Given the description of an element on the screen output the (x, y) to click on. 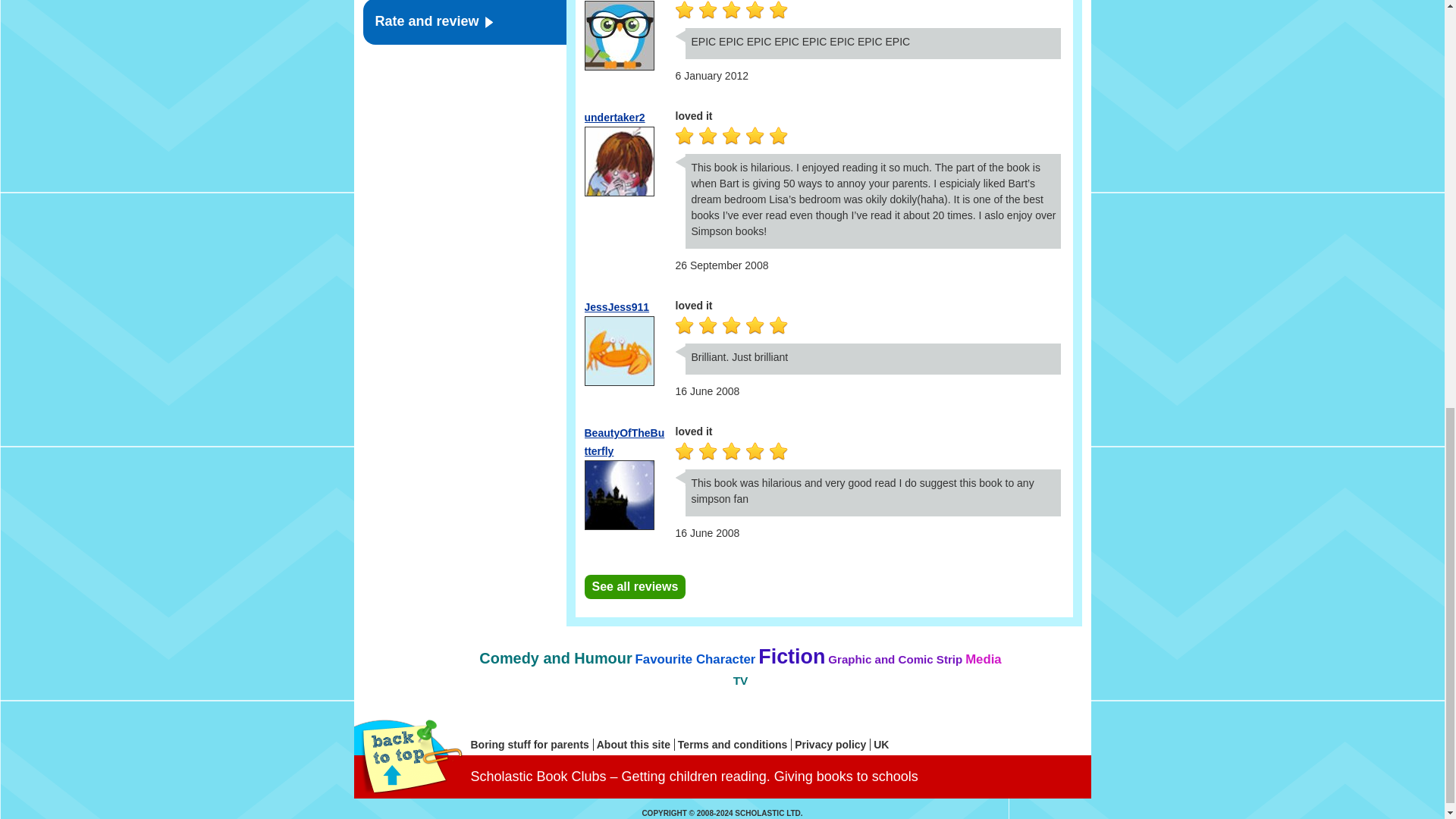
See all reviews (634, 586)
undertaker2 (614, 117)
JessJess911 (616, 306)
BeautyOfTheButterfly (623, 441)
Rate and review (464, 22)
